Given the description of an element on the screen output the (x, y) to click on. 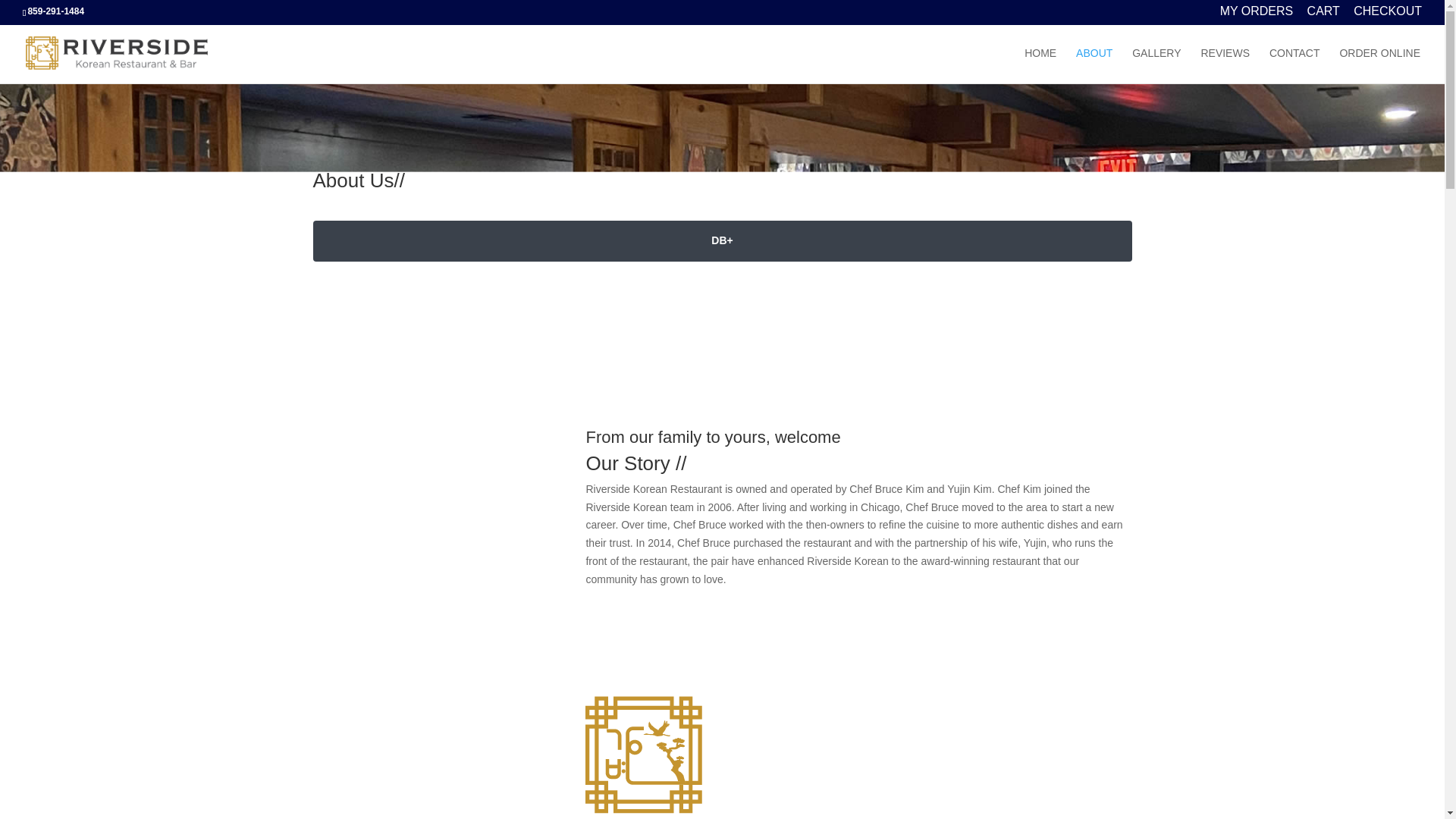
REVIEWS (1224, 65)
CHECKOUT (1388, 15)
ABOUT (1093, 65)
HOME (1041, 65)
GALLERY (1156, 65)
Make a Reservation (669, 654)
Logo-SQ (643, 755)
CART (1323, 15)
MY ORDERS (1257, 15)
ORDER ONLINE (1380, 65)
CONTACT (1294, 65)
